Given the description of an element on the screen output the (x, y) to click on. 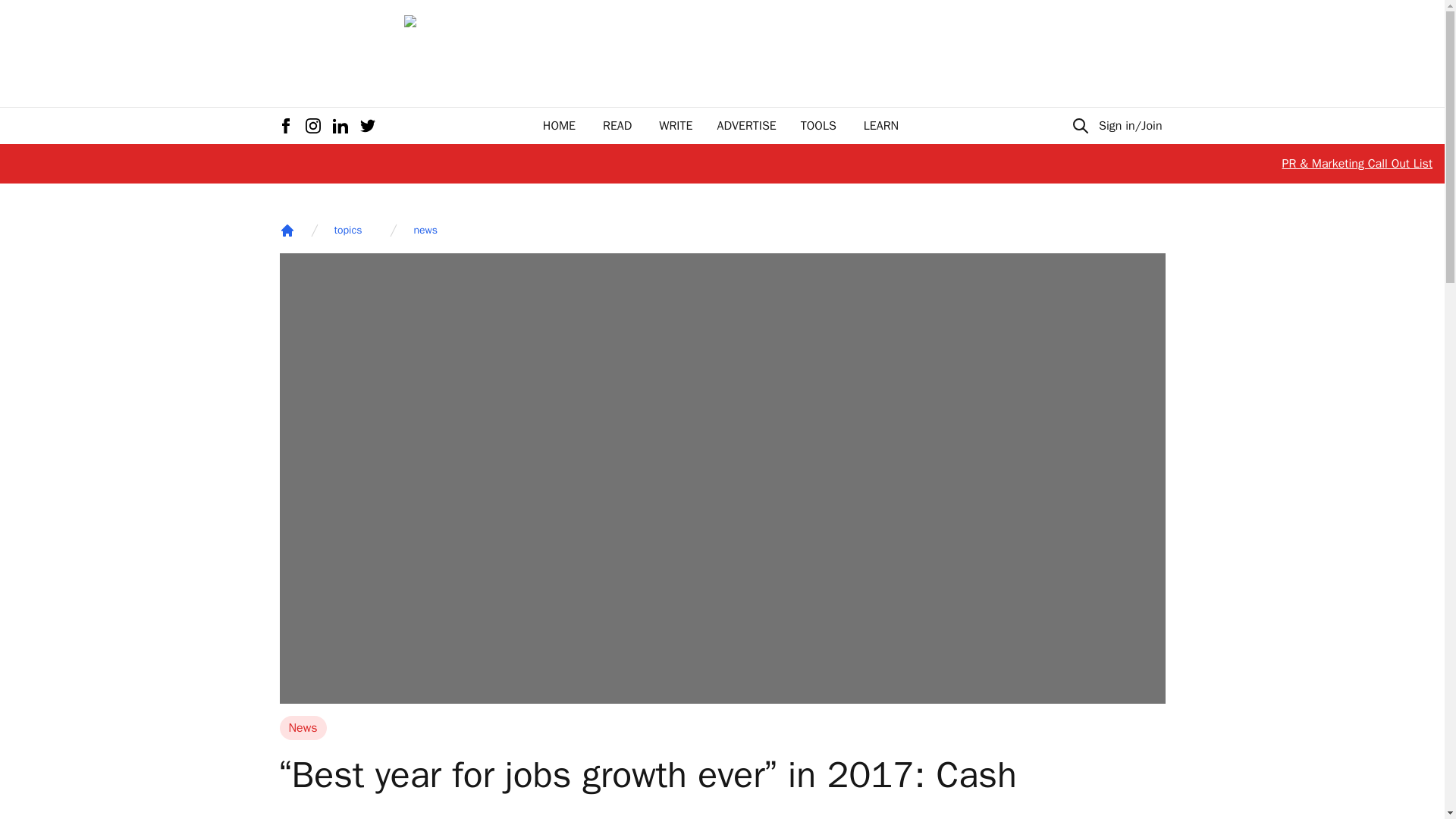
ADVERTISE (746, 126)
WRITE (676, 126)
Home (286, 230)
HOME (559, 126)
topics (347, 230)
news (425, 230)
READ (616, 126)
News (302, 727)
LEARN (880, 126)
TOOLS (817, 126)
